Given the description of an element on the screen output the (x, y) to click on. 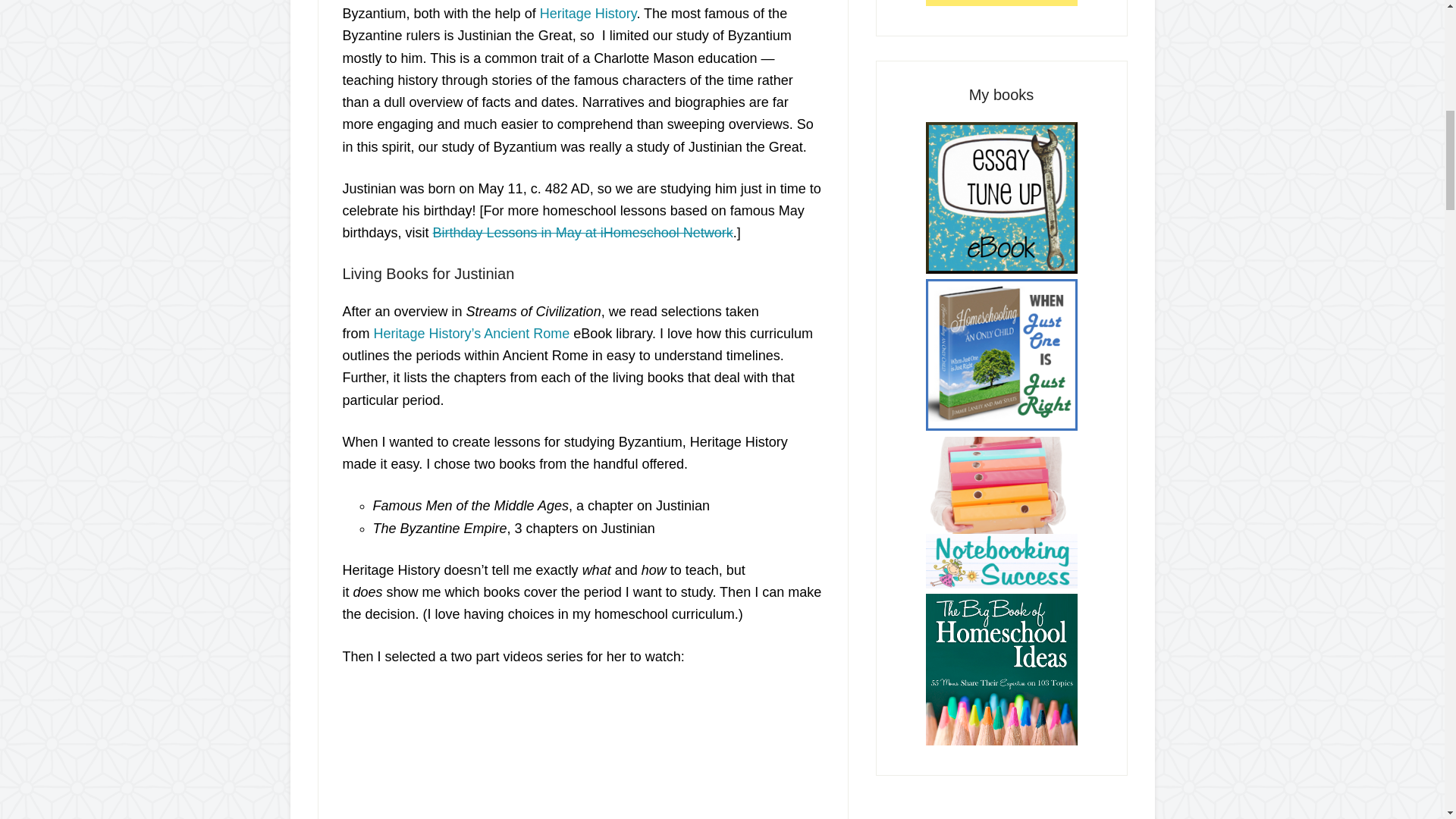
affiliate link (588, 13)
a guide for teaching how to write an essay (1000, 197)
Heritage History (588, 13)
Justinian part1 (532, 753)
Birthday Lessons in May at iHomeschool Network (582, 232)
Heritage History Living eBooks Curriculum Review (472, 333)
